Given the description of an element on the screen output the (x, y) to click on. 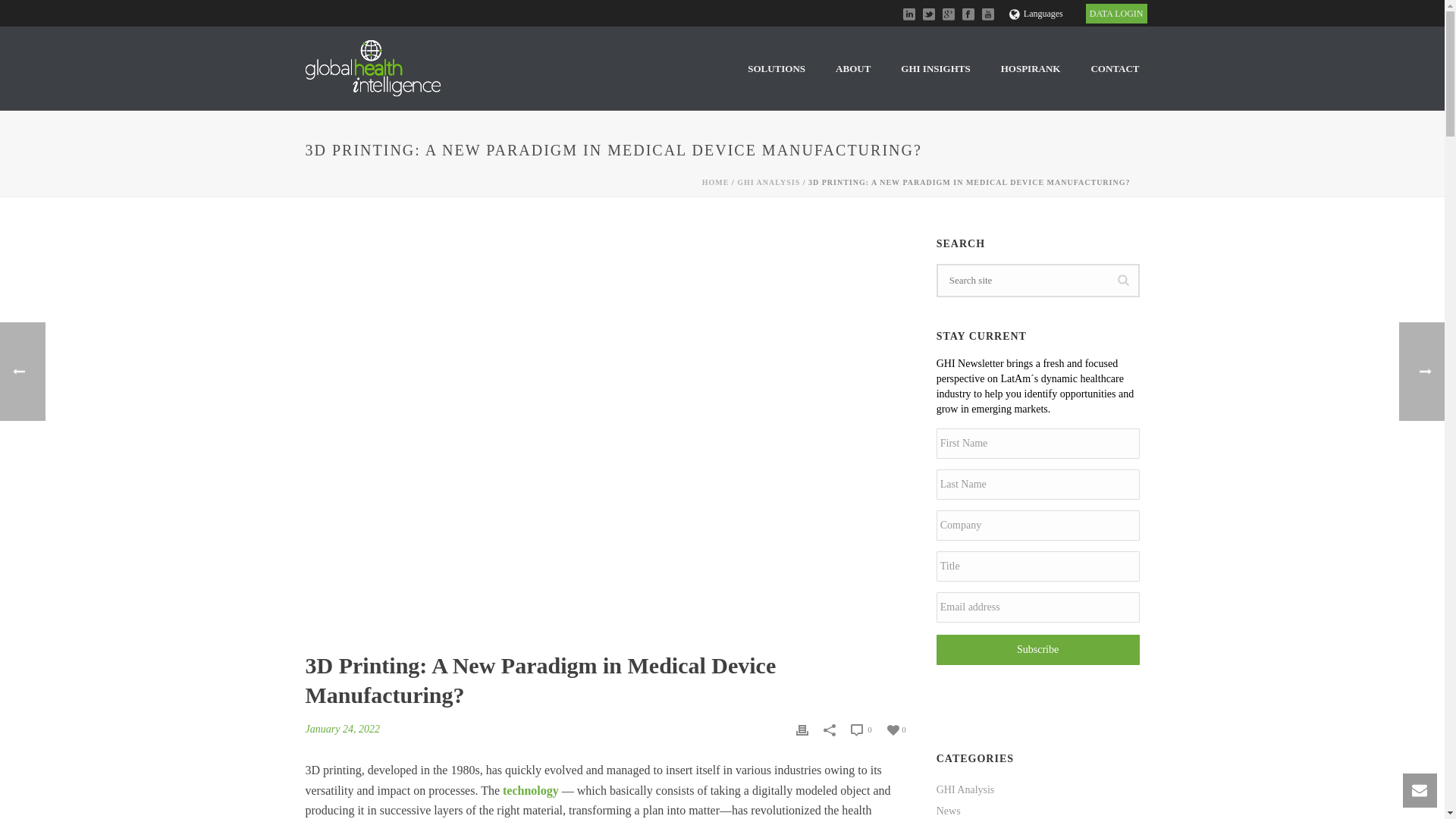
HOSPIRANK (1030, 68)
ABOUT (853, 68)
GHI INSIGHTS (935, 68)
SOLUTIONS (776, 68)
Languages (1035, 13)
GHI INSIGHTS (935, 68)
SOLUTIONS (776, 68)
CONTACT (1114, 68)
